Given the description of an element on the screen output the (x, y) to click on. 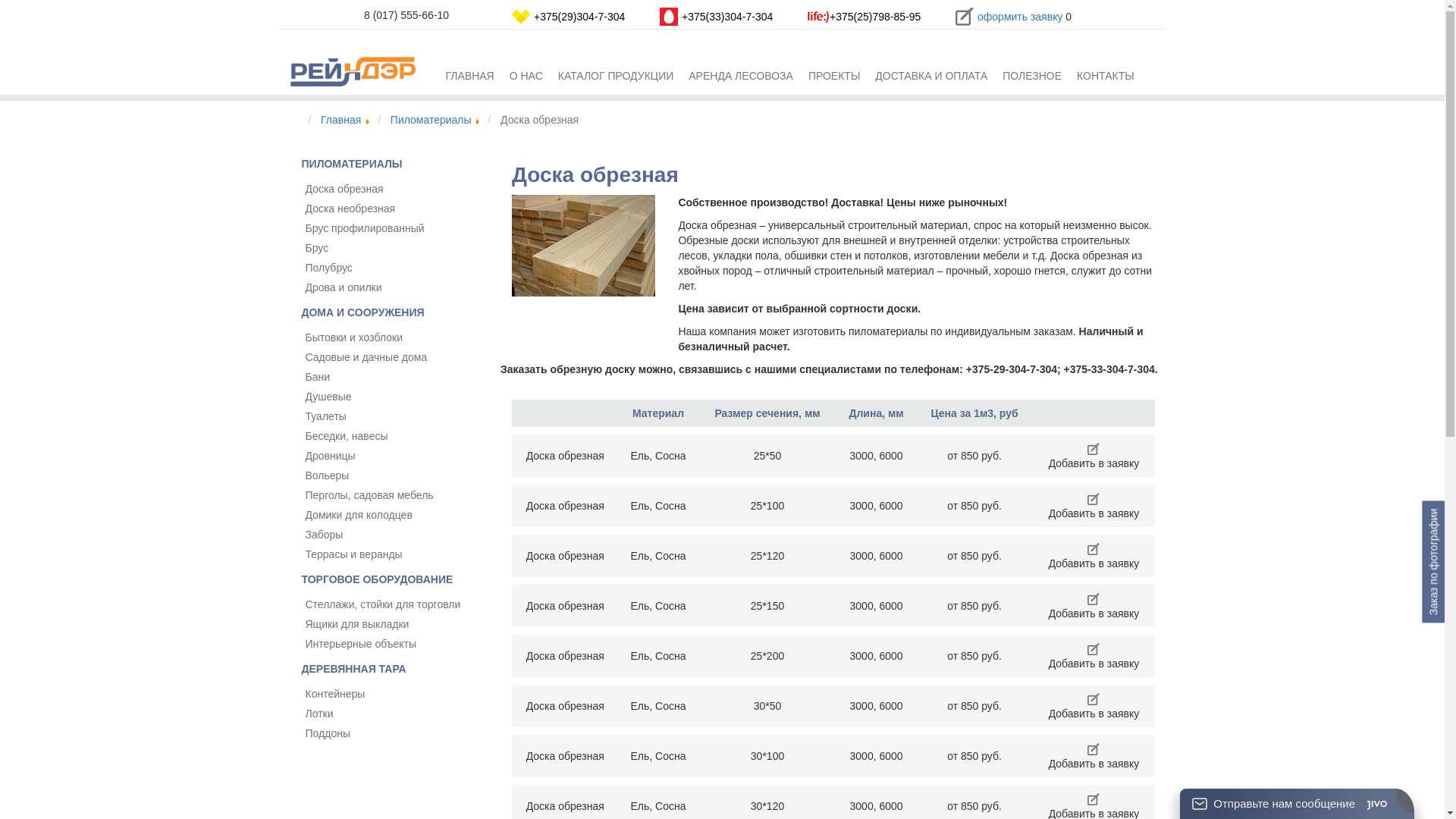
+375(29)304-7-304 Element type: text (578, 16)
+375(33)304-7-304 Element type: text (726, 16)
+375(25)798-85-95 Element type: text (874, 16)
